Given the description of an element on the screen output the (x, y) to click on. 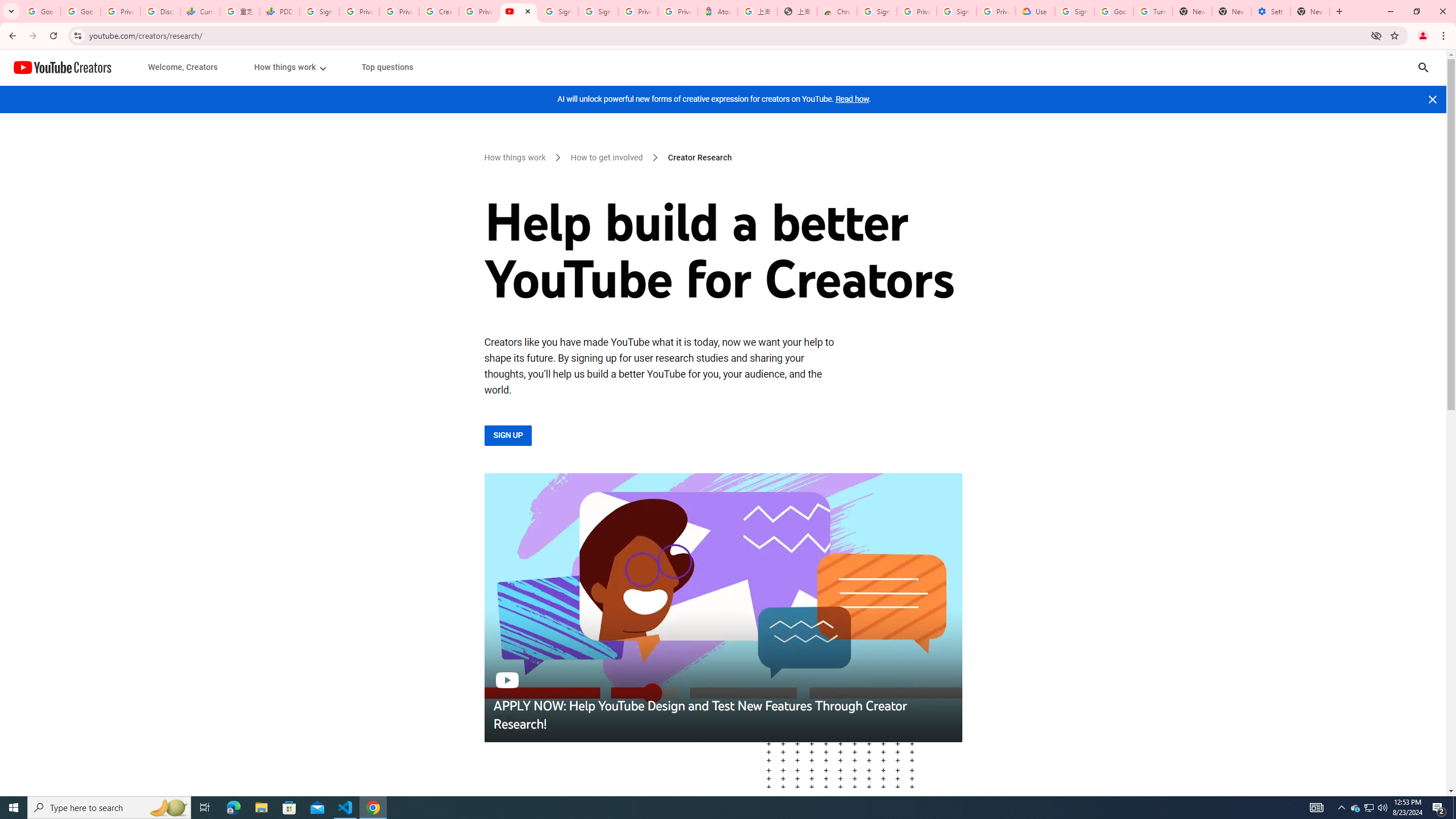
Currencies - Google Finance (199, 11)
Sign in - Google Accounts (956, 11)
Create your Google Account (438, 11)
Privacy Checkup (398, 11)
Play Video (722, 607)
Google Account Help (1113, 11)
